Given the description of an element on the screen output the (x, y) to click on. 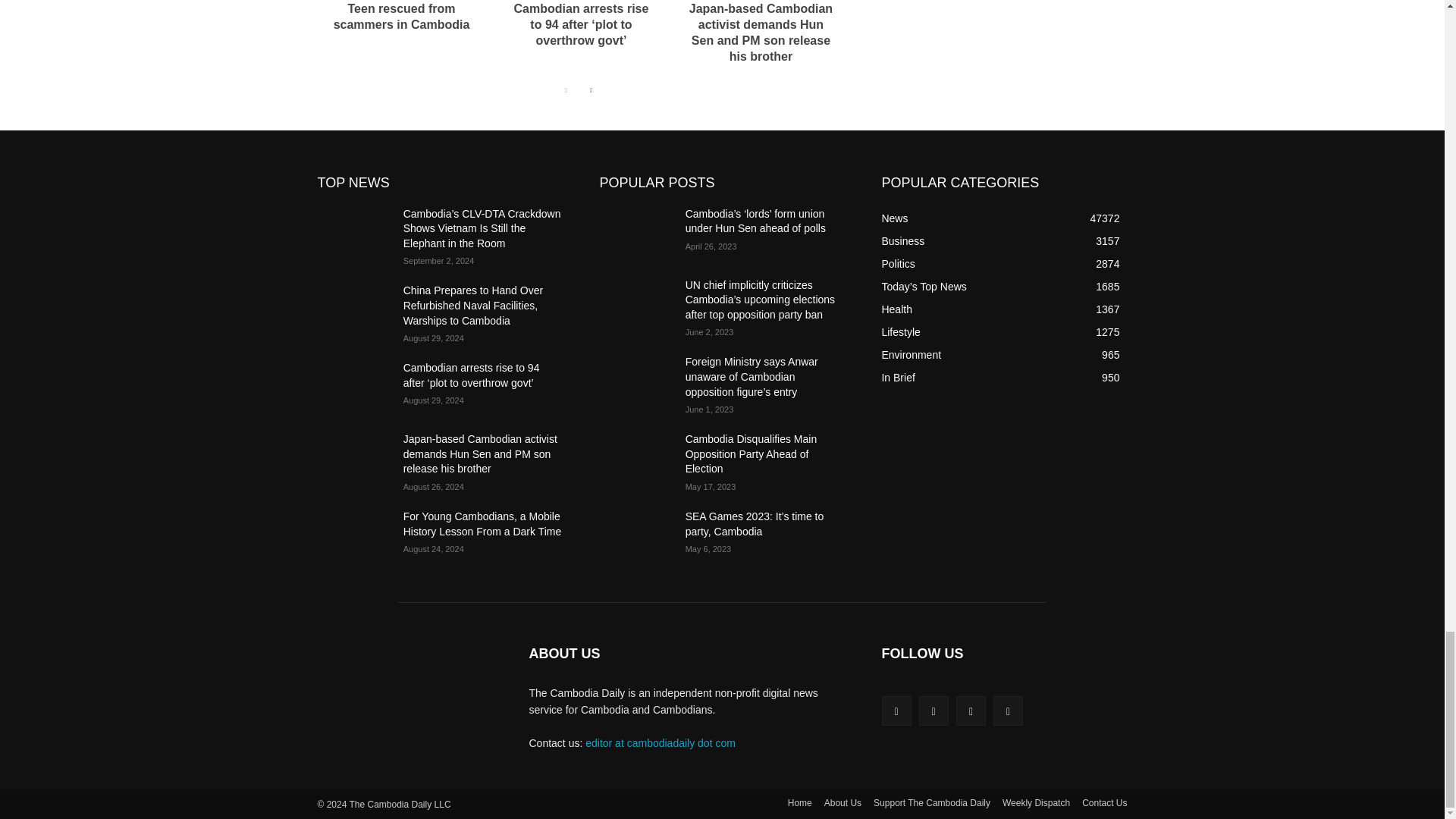
Teen rescued from scammers in Cambodia (401, 16)
Teen rescued from scammers in Cambodia (401, 16)
